Given the description of an element on the screen output the (x, y) to click on. 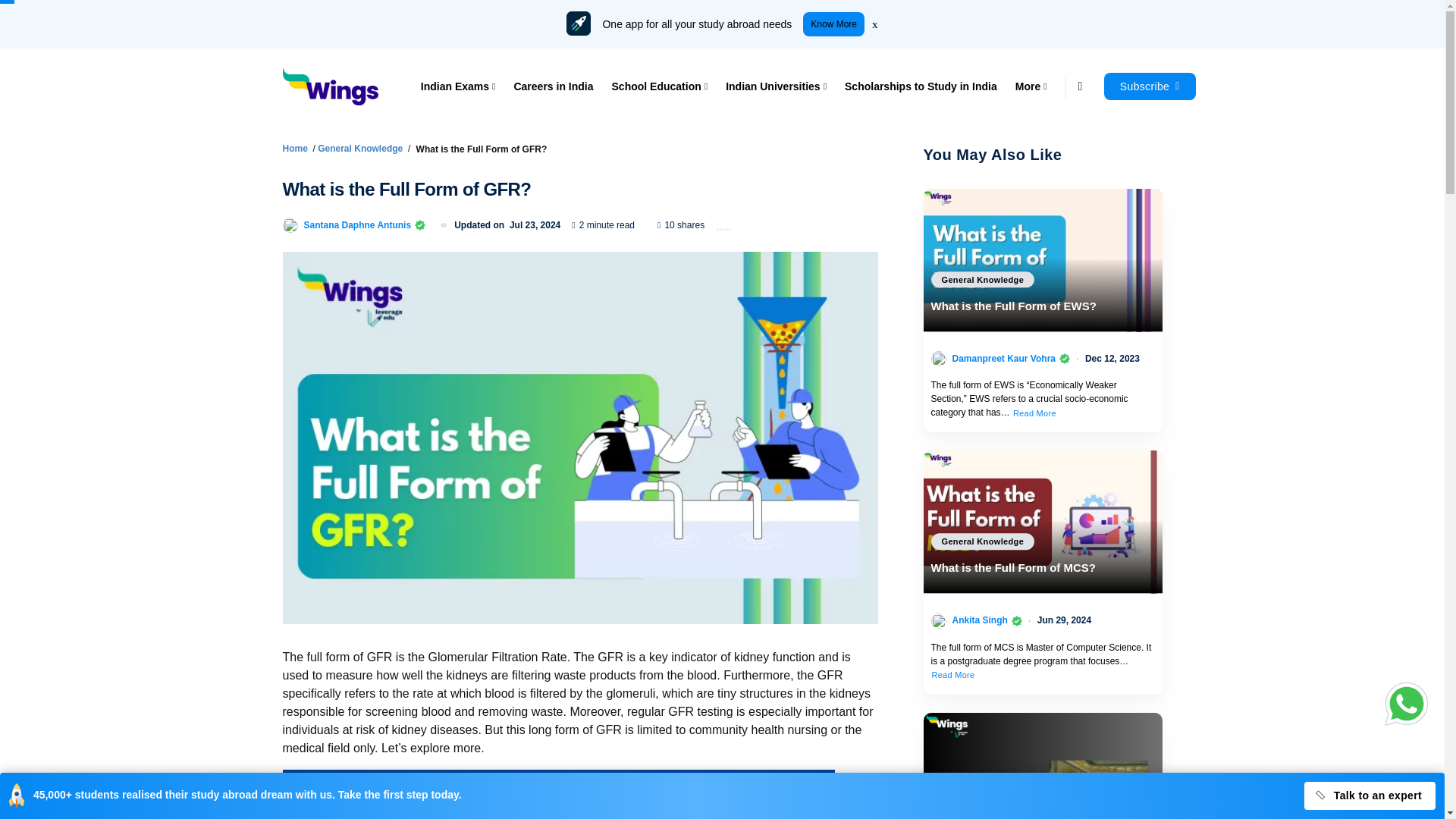
View all posts by Santana Daphne Antunis (356, 224)
